Given the description of an element on the screen output the (x, y) to click on. 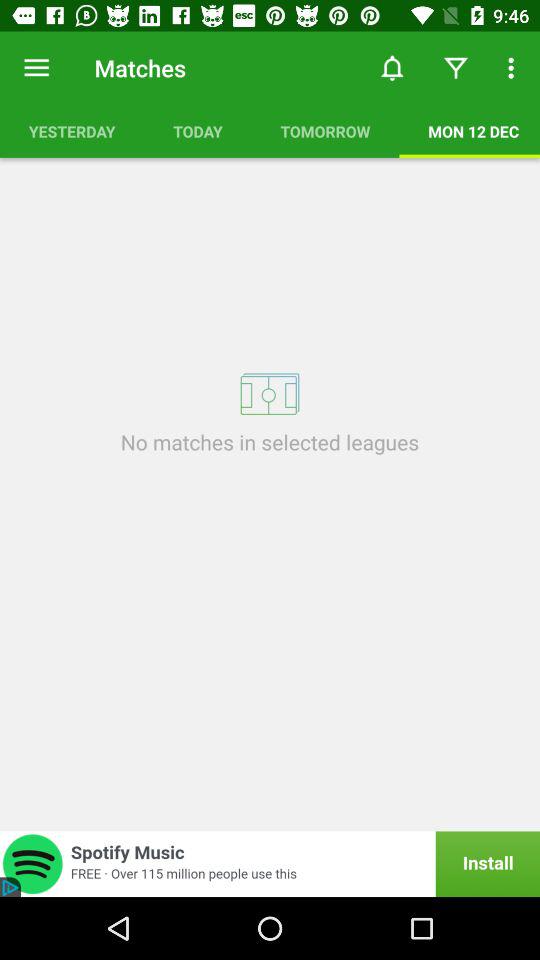
open item above the no matches in (269, 393)
